Given the description of an element on the screen output the (x, y) to click on. 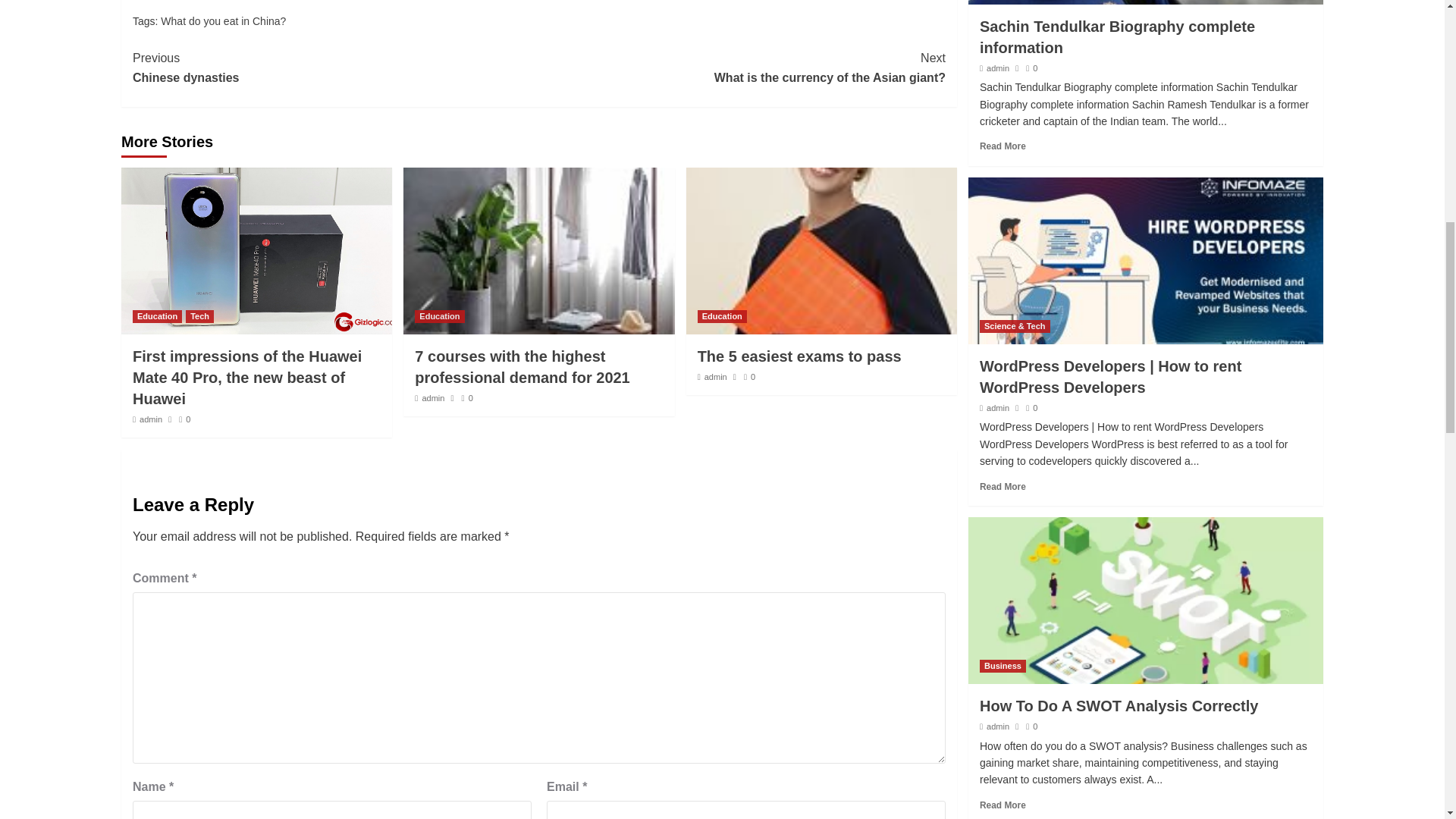
0 (184, 419)
Tech (200, 316)
Education (157, 316)
7 courses with the highest professional demand for 2021 (521, 366)
admin (150, 419)
Education (335, 67)
What do you eat in China? (439, 316)
admin (222, 21)
